Given the description of an element on the screen output the (x, y) to click on. 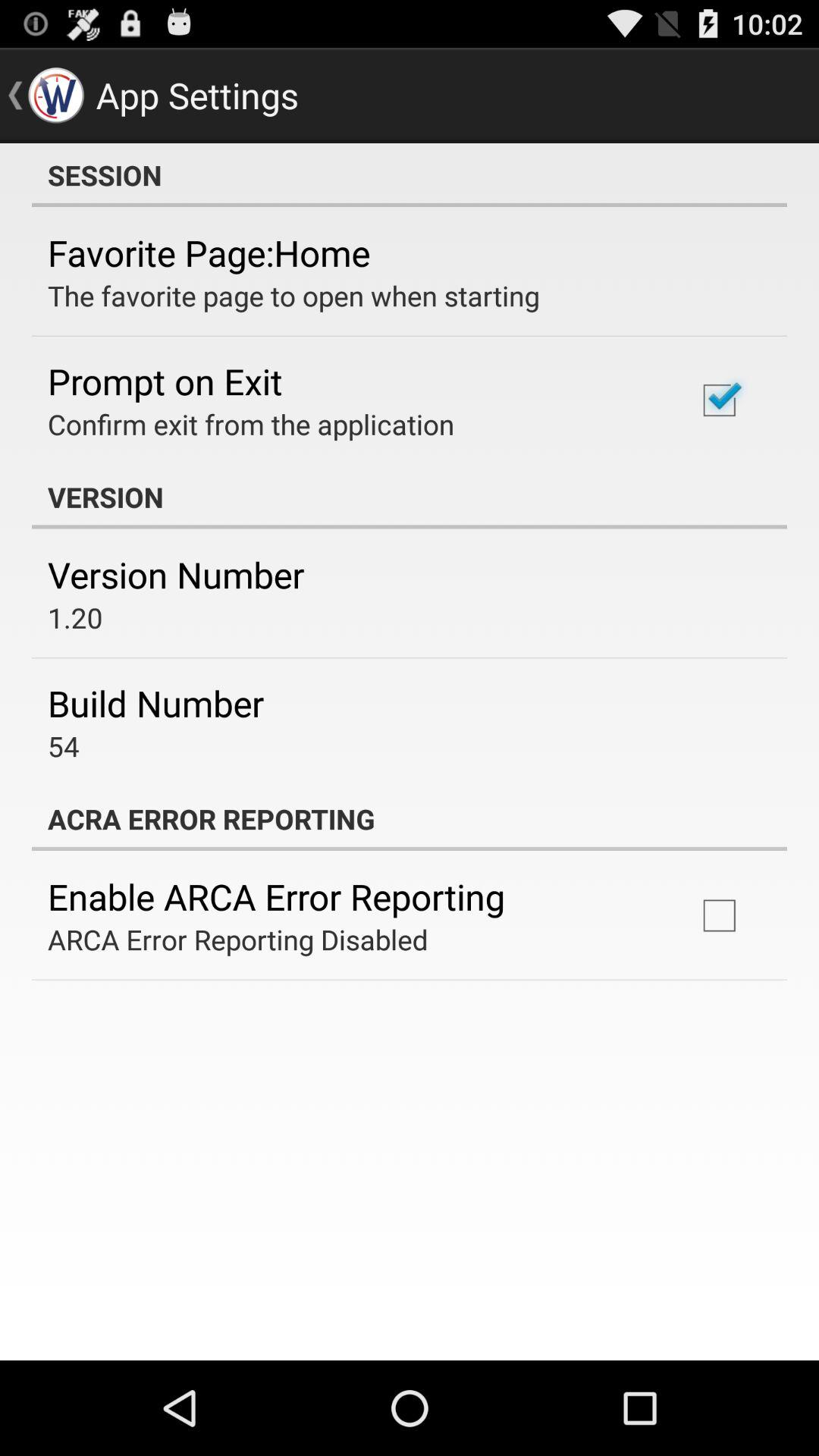
select app below 1.20 icon (155, 703)
